Given the description of an element on the screen output the (x, y) to click on. 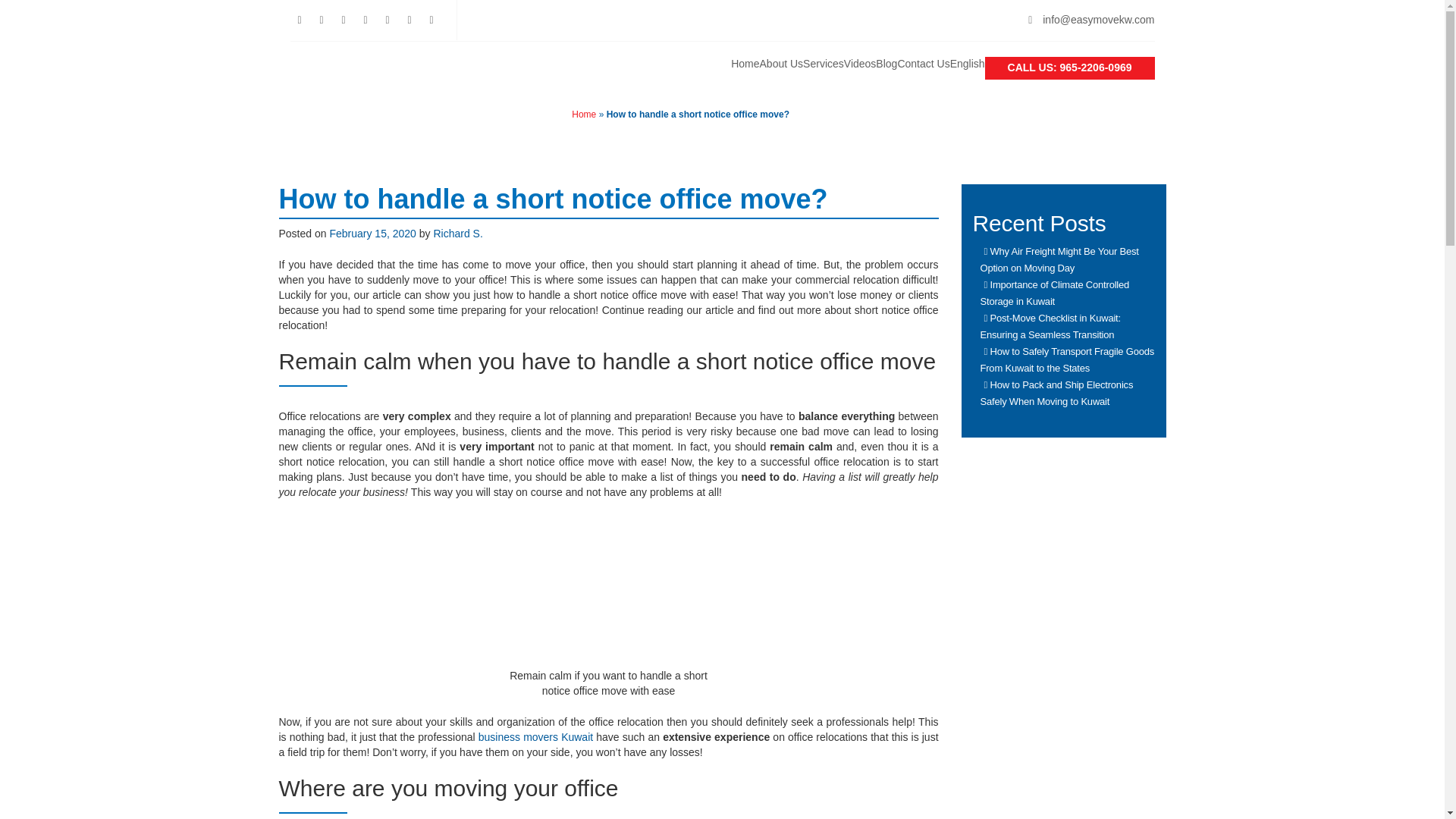
About Us (781, 64)
CALL US: 965-2206-0969 (1069, 68)
English (967, 64)
business movers Kuwait (535, 736)
Services (823, 64)
Home (744, 64)
Videos (860, 64)
Home (583, 113)
Richard S. (456, 233)
Blog (886, 64)
